Given the description of an element on the screen output the (x, y) to click on. 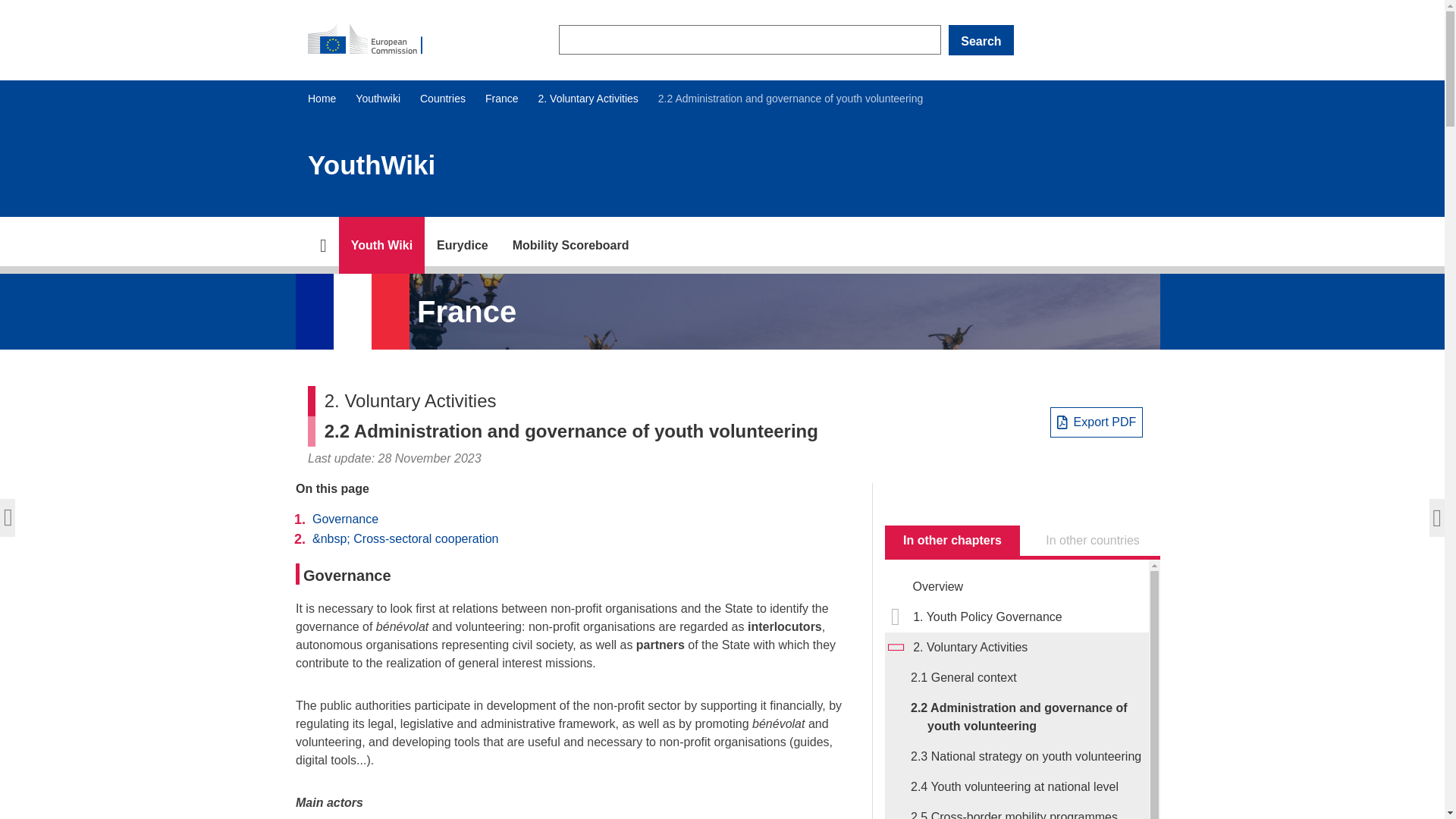
Countries (442, 98)
Mobility Scoreboard (571, 245)
Skip to main content (5, 6)
Search (981, 40)
Home (321, 98)
Eurydice (462, 245)
France (501, 98)
Contact (462, 245)
Youthwiki (377, 98)
Youth Wiki (382, 245)
